Given the description of an element on the screen output the (x, y) to click on. 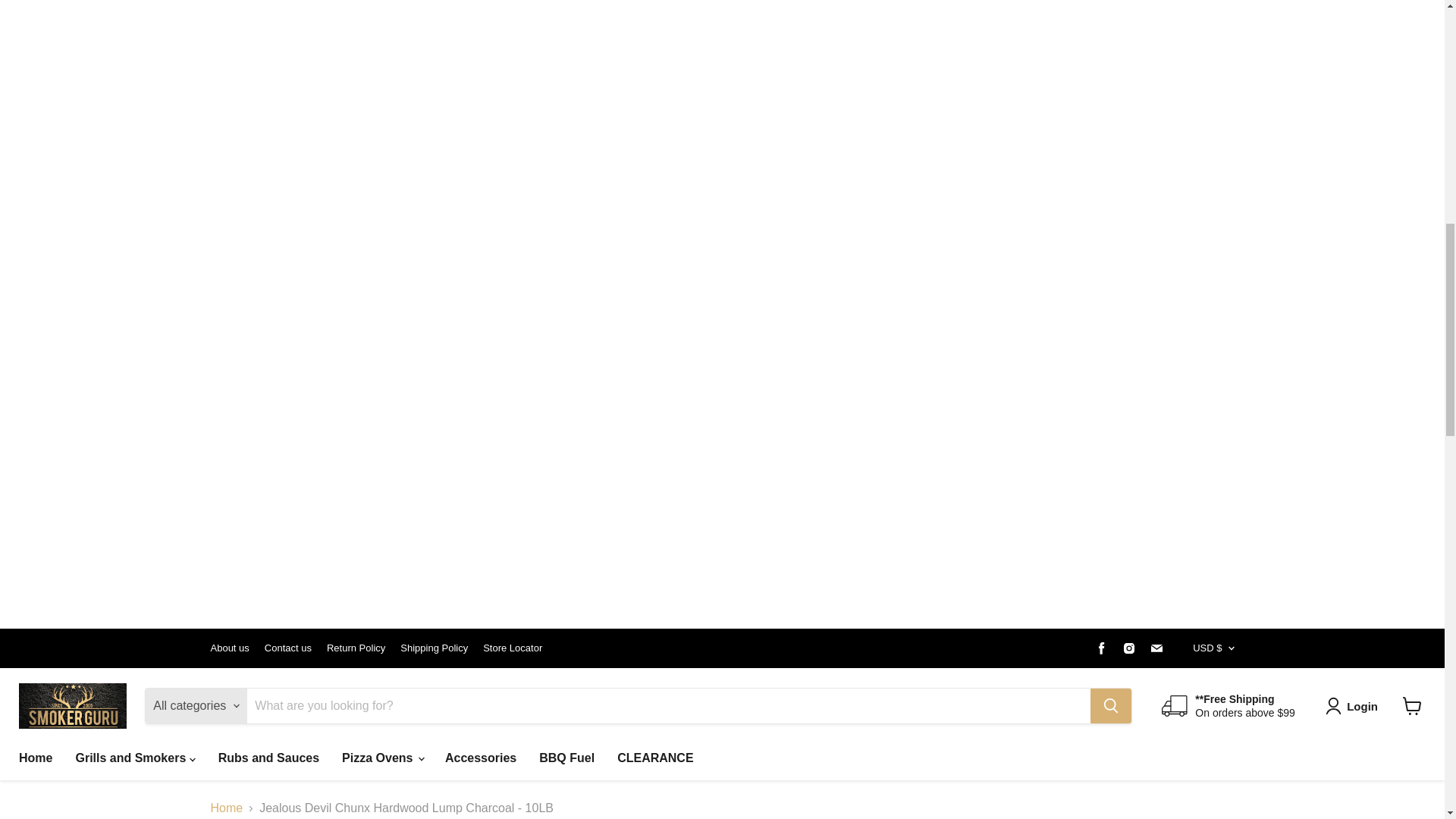
Return Policy (355, 648)
Find us on Instagram (1129, 648)
Shipping Policy (433, 648)
Store Locator (512, 648)
Facebook (1101, 648)
Email (1156, 648)
Find us on Email (1156, 648)
Find us on Facebook (1101, 648)
Instagram (1129, 648)
Contact us (287, 648)
About us (229, 648)
